Given the description of an element on the screen output the (x, y) to click on. 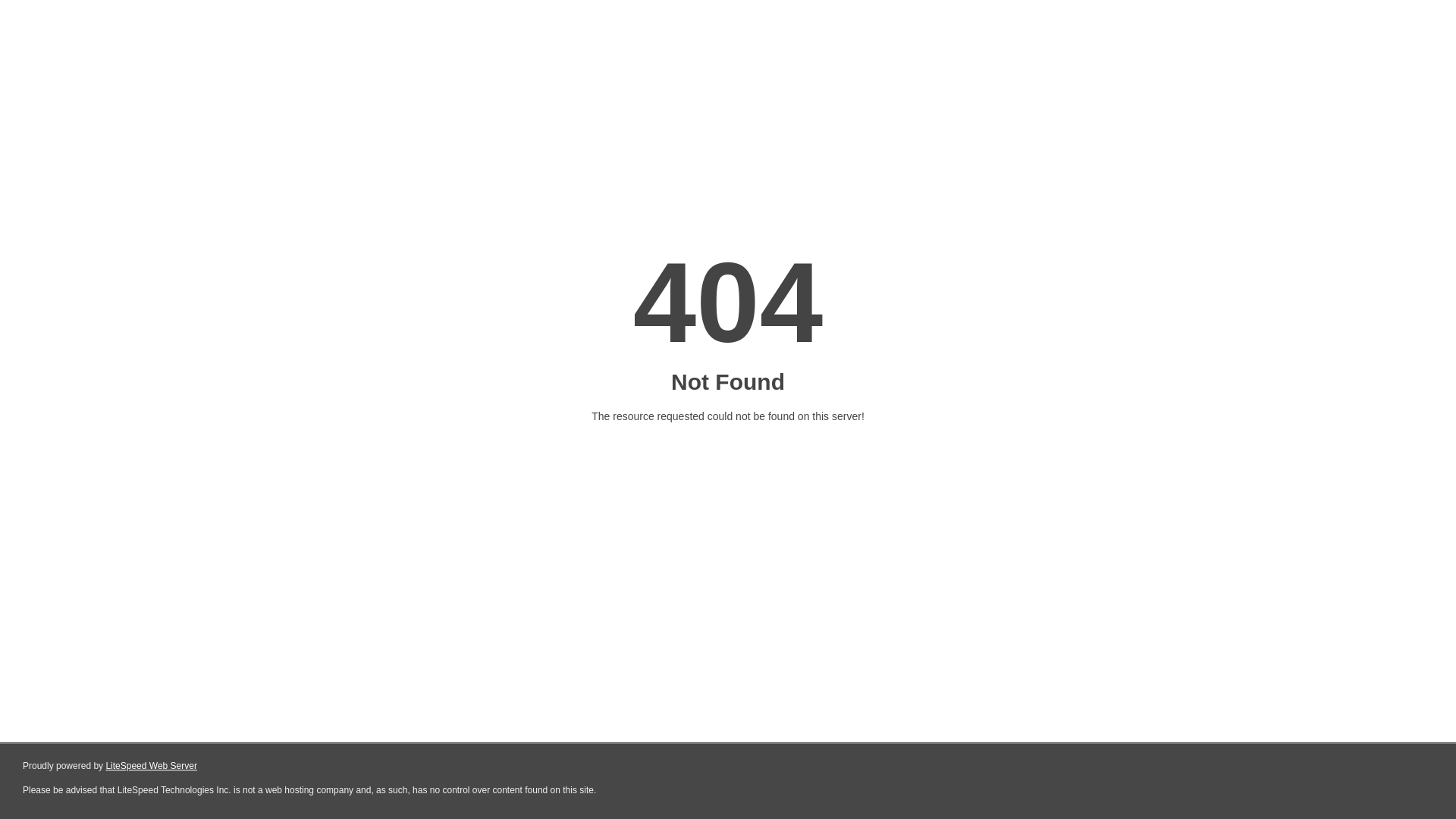
LiteSpeed Web Server Element type: text (151, 765)
